Given the description of an element on the screen output the (x, y) to click on. 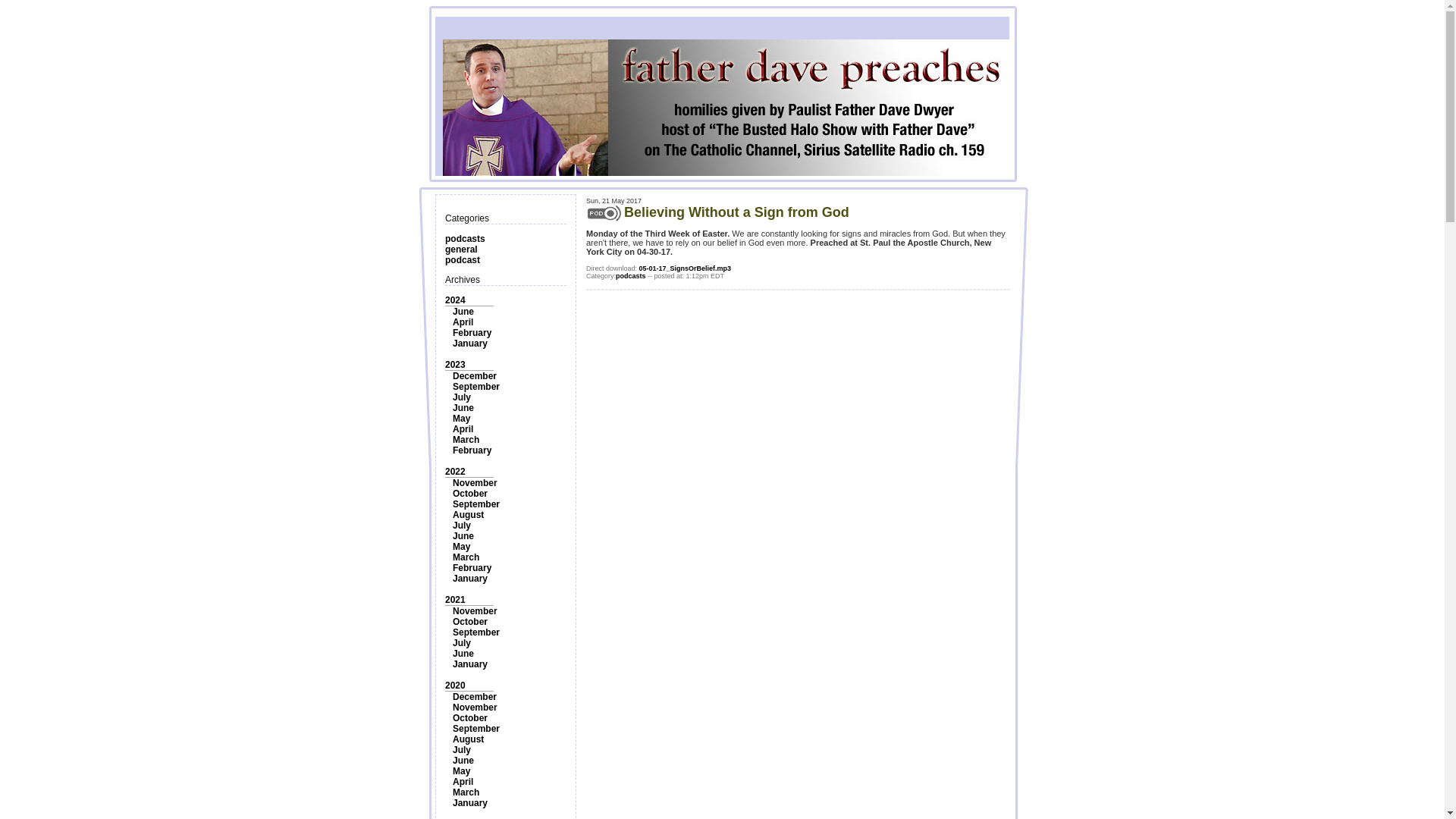
February (472, 567)
September (475, 503)
April (462, 321)
June (463, 311)
June (463, 653)
November (474, 482)
January (469, 664)
June (463, 407)
2022 (455, 471)
March (465, 557)
general (461, 249)
September (475, 632)
April (462, 429)
2021 (455, 599)
2024 (455, 299)
